Given the description of an element on the screen output the (x, y) to click on. 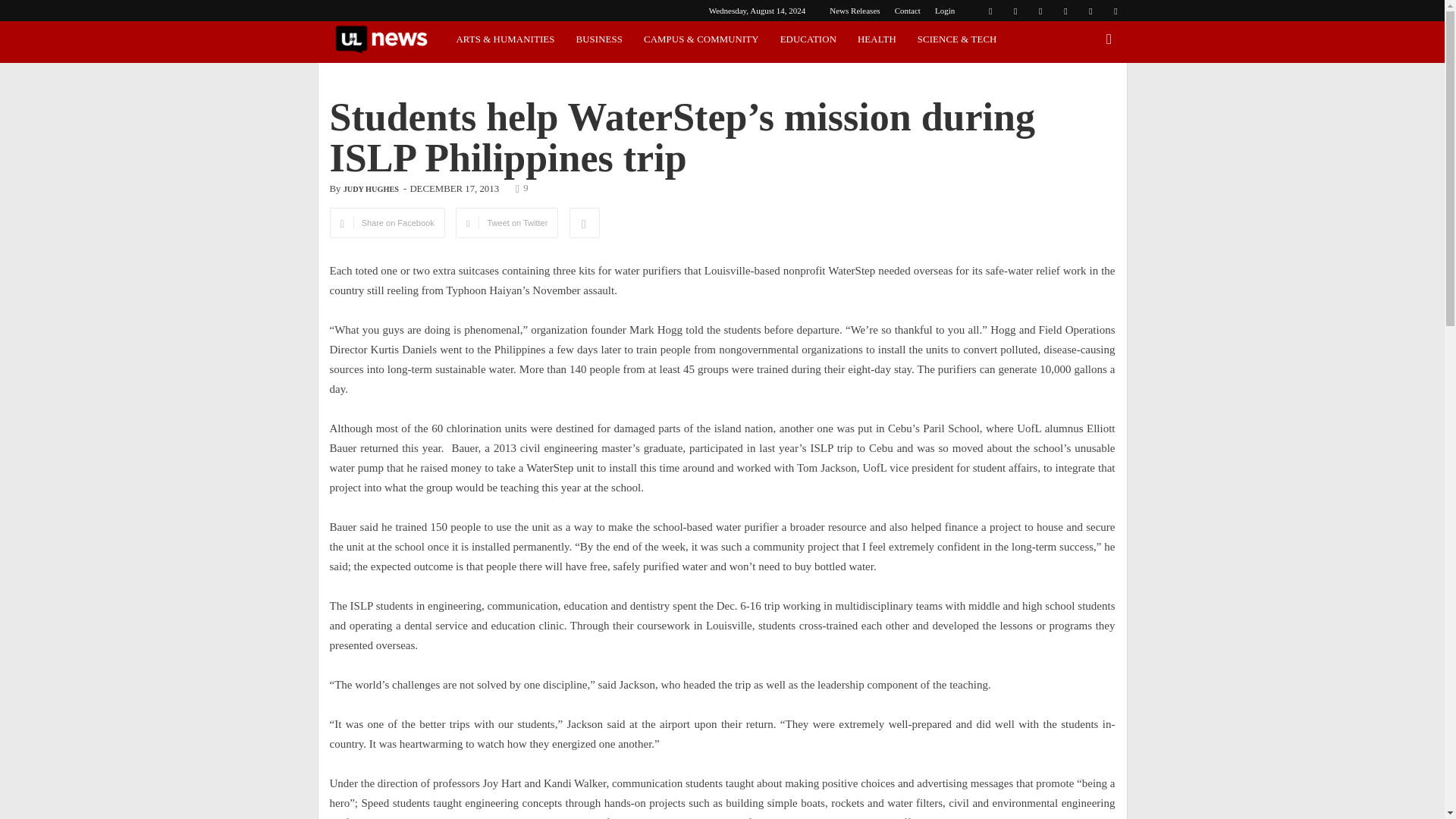
Login (944, 10)
Contact (907, 10)
Youtube (1114, 10)
Linkedin (1040, 10)
Facebook (989, 10)
Twitter (1090, 10)
News Releases (854, 10)
UofL News (381, 38)
Mail (1065, 10)
Flickr (1015, 10)
